Given the description of an element on the screen output the (x, y) to click on. 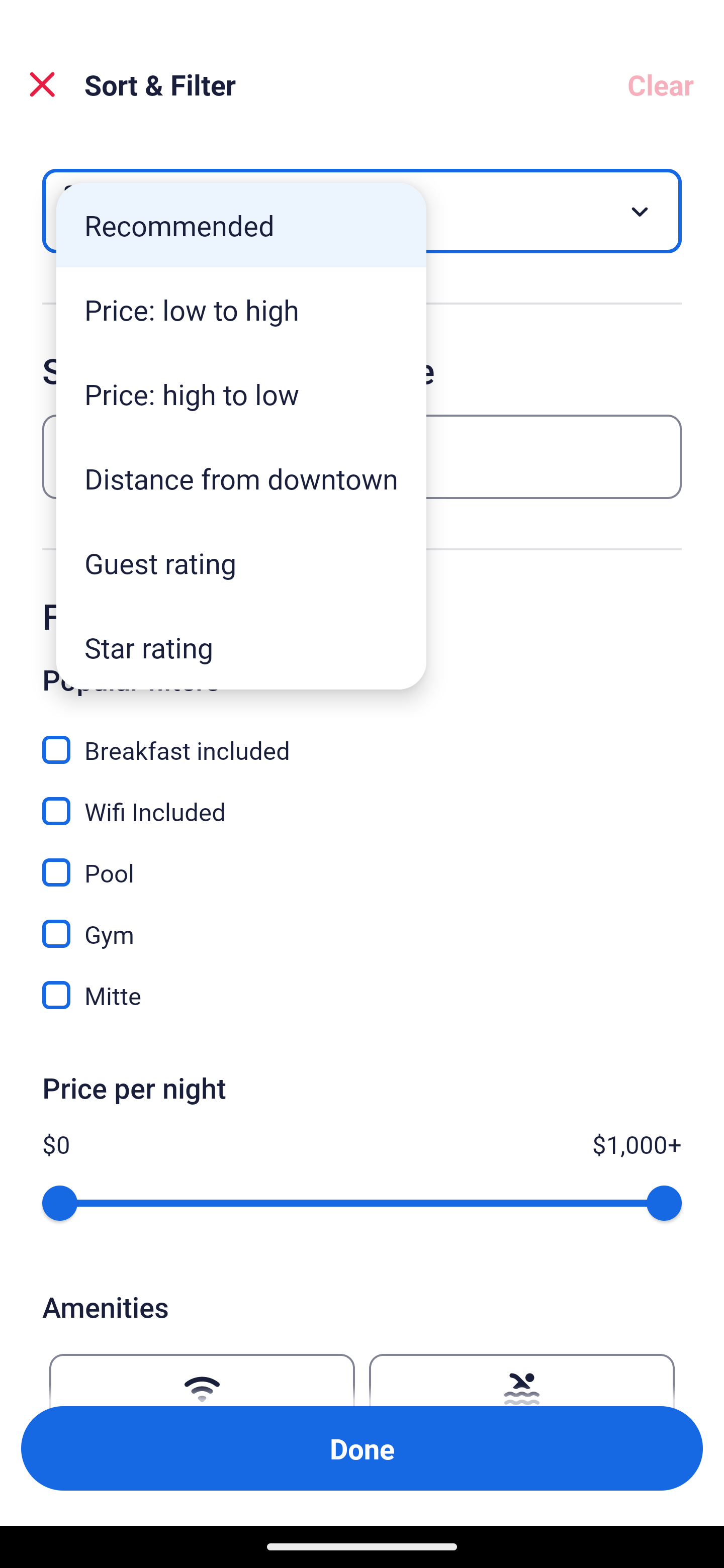
Price: low to high (241, 309)
Price: high to low (241, 393)
Distance from downtown (241, 477)
Guest rating (241, 562)
Star rating (241, 647)
